Given the description of an element on the screen output the (x, y) to click on. 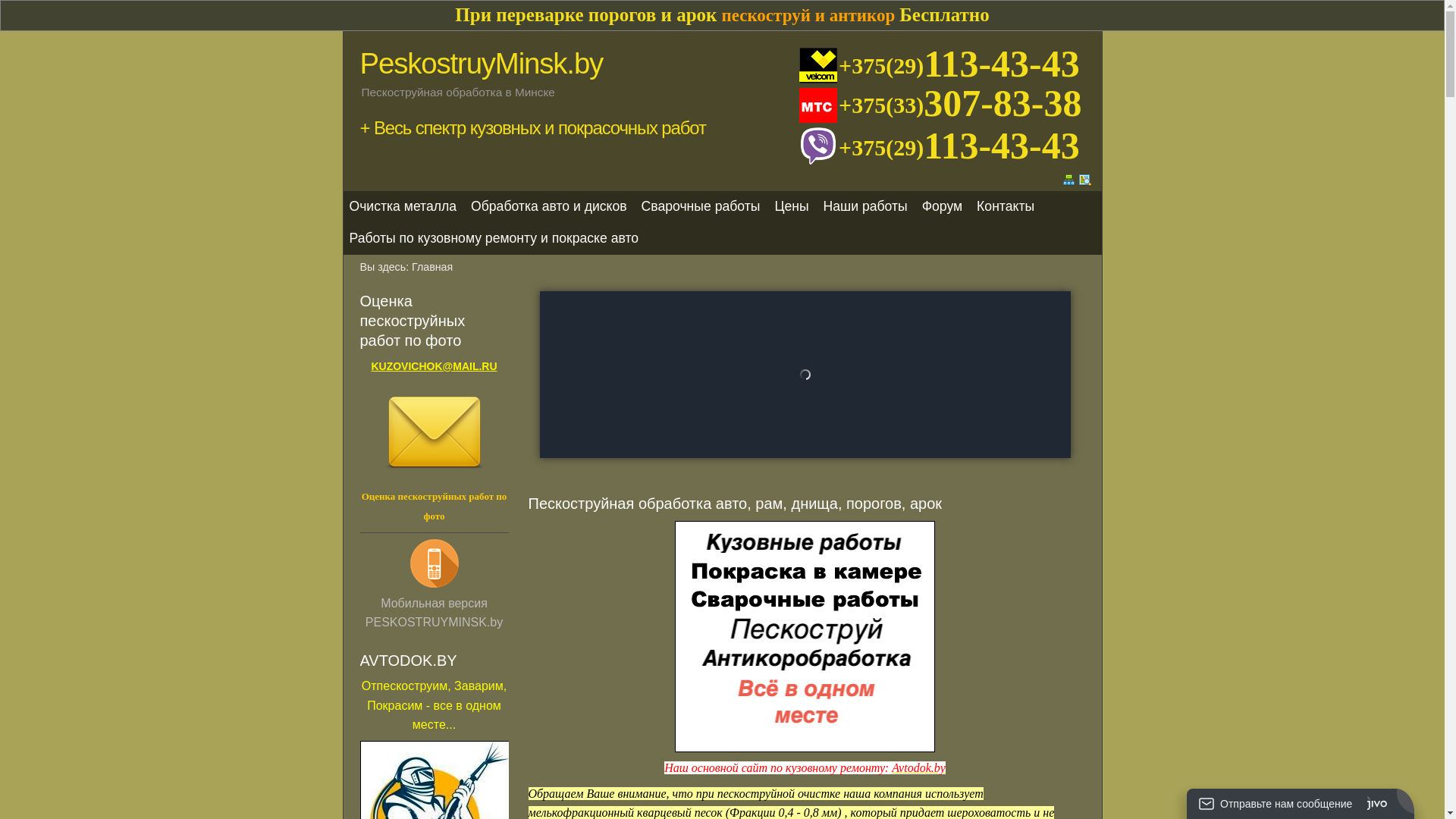
PeskostruyMinsk.by Element type: text (480, 63)
Avtodok.by Element type: text (918, 767)
